Given the description of an element on the screen output the (x, y) to click on. 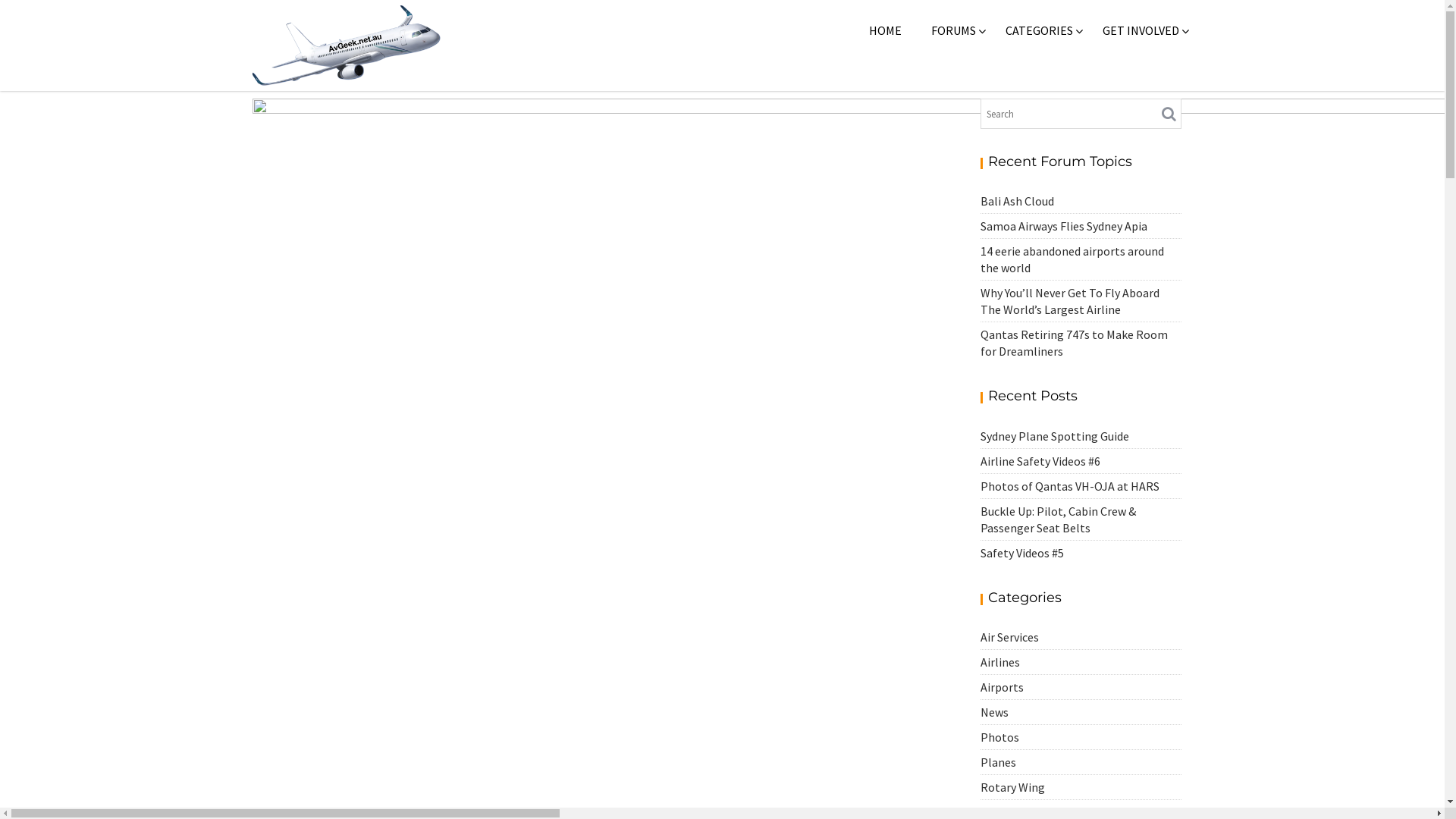
GET INVOLVED Element type: text (1140, 30)
FORUMS Element type: text (953, 30)
CATEGORIES Element type: text (1038, 30)
Photos Element type: text (998, 736)
Air Services Element type: text (1008, 636)
Airports Element type: text (1000, 686)
Safety Videos #5 Element type: text (1021, 552)
HOME Element type: text (885, 30)
Airline Safety Videos #6 Element type: text (1039, 460)
Qantas Retiring 747s to Make Room for Dreamliners Element type: text (1073, 342)
Airlines Element type: text (999, 661)
14 eerie abandoned airports around the world Element type: text (1071, 259)
Planes Element type: text (997, 761)
News Element type: text (993, 711)
Photos of Qantas VH-OJA at HARS Element type: text (1068, 485)
Sydney Plane Spotting Guide Element type: text (1053, 435)
Buckle Up: Pilot, Cabin Crew & Passenger Seat Belts Element type: text (1057, 519)
Rotary Wing Element type: text (1011, 786)
Bali Ash Cloud Element type: text (1016, 200)
Samoa Airways Flies Sydney Apia Element type: text (1062, 225)
